Given the description of an element on the screen output the (x, y) to click on. 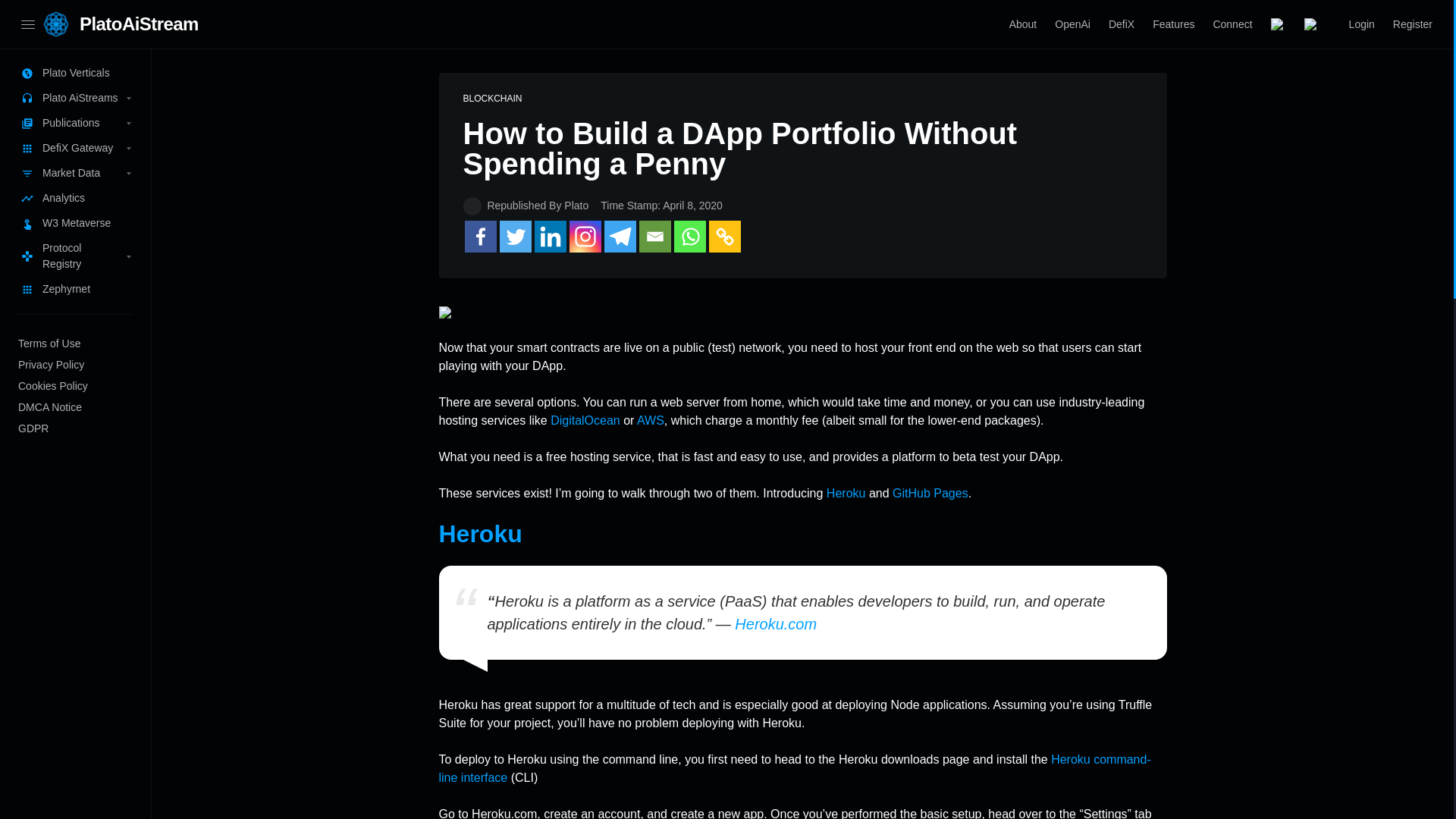
PlatoAiStream (139, 23)
Copy Link (723, 236)
DefiX (1120, 24)
Publications (75, 122)
Features (1173, 24)
Email (654, 236)
Linkedin (550, 236)
Twitter (515, 236)
Instagram (584, 236)
Login (1361, 24)
